Given the description of an element on the screen output the (x, y) to click on. 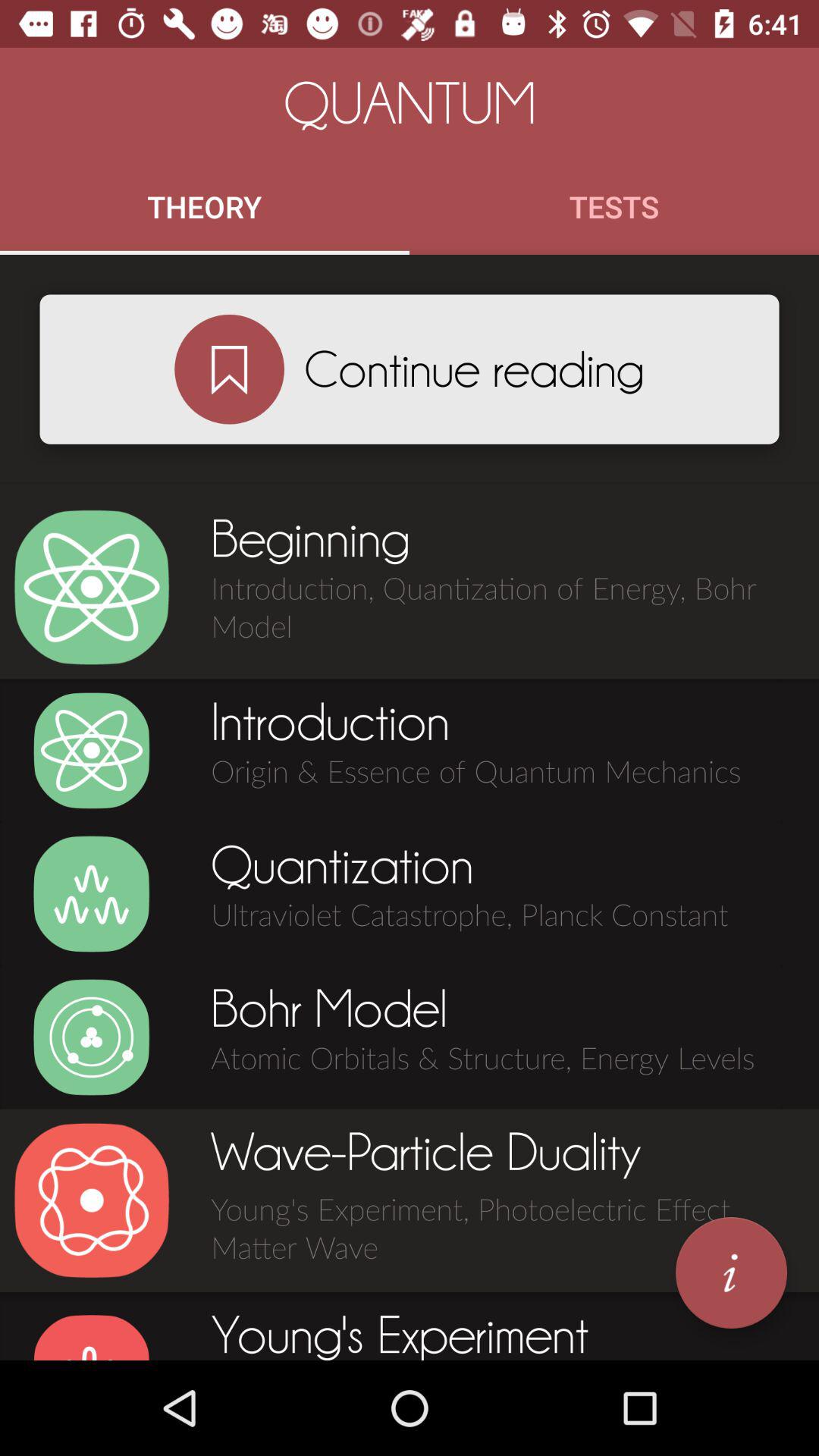
select the option young 's experiment (91, 1336)
